Given the description of an element on the screen output the (x, y) to click on. 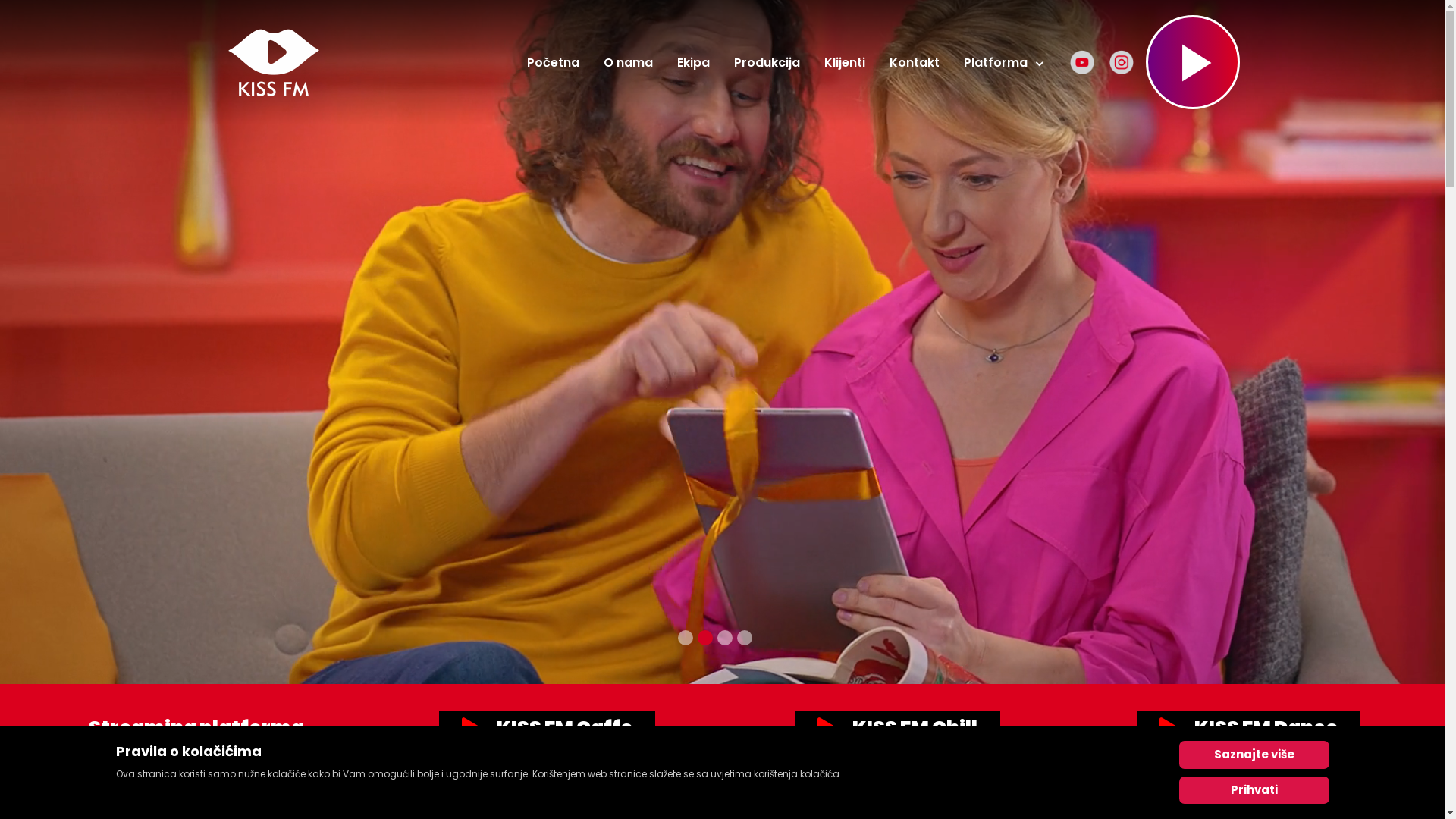
KISS FM Chill Element type: text (897, 727)
Kontakt Element type: text (913, 61)
play_arrow Element type: text (1180, 62)
Klijenti Element type: text (843, 61)
O nama Element type: text (628, 61)
Prihvati Element type: text (1253, 790)
Ekipa Element type: text (692, 61)
KISS FM Caffe Element type: text (547, 727)
KISS FM Dance Element type: text (1248, 727)
Platforma Element type: text (1002, 61)
Produkcija Element type: text (766, 61)
